Given the description of an element on the screen output the (x, y) to click on. 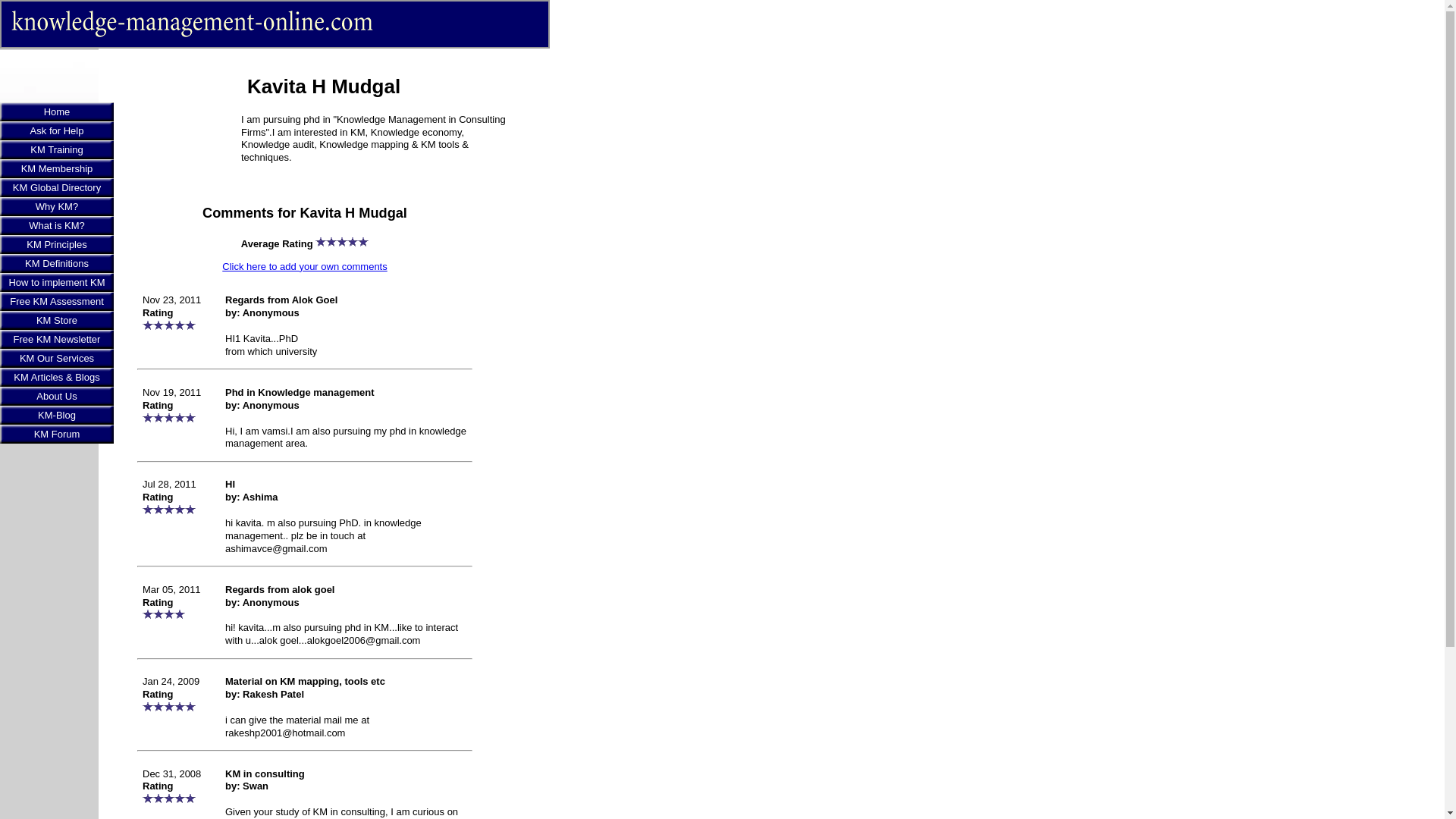
KM Forum (56, 434)
KM-Blog (56, 415)
KM Membership (56, 168)
KM Definitions (56, 262)
How to implement KM (56, 281)
Free KM Newsletter (56, 339)
KM Principles (56, 244)
What is KM? (56, 225)
KM Training (56, 149)
Why KM? (56, 206)
